Given the description of an element on the screen output the (x, y) to click on. 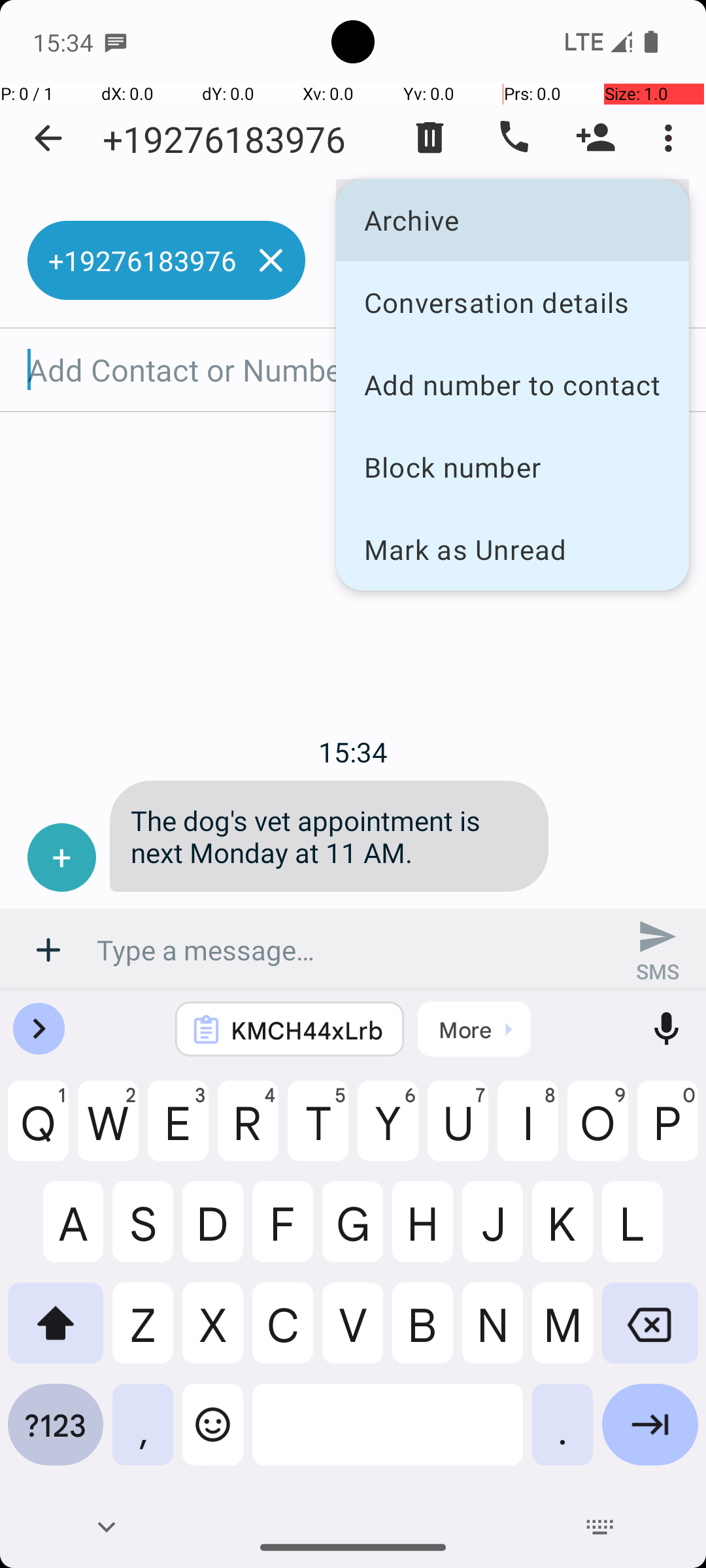
Archive Element type: android.widget.TextView (512, 219)
Conversation details Element type: android.widget.TextView (512, 301)
Add number to contact Element type: android.widget.TextView (512, 384)
Block number Element type: android.widget.TextView (512, 466)
Mark as Unread Element type: android.widget.TextView (512, 548)
